Given the description of an element on the screen output the (x, y) to click on. 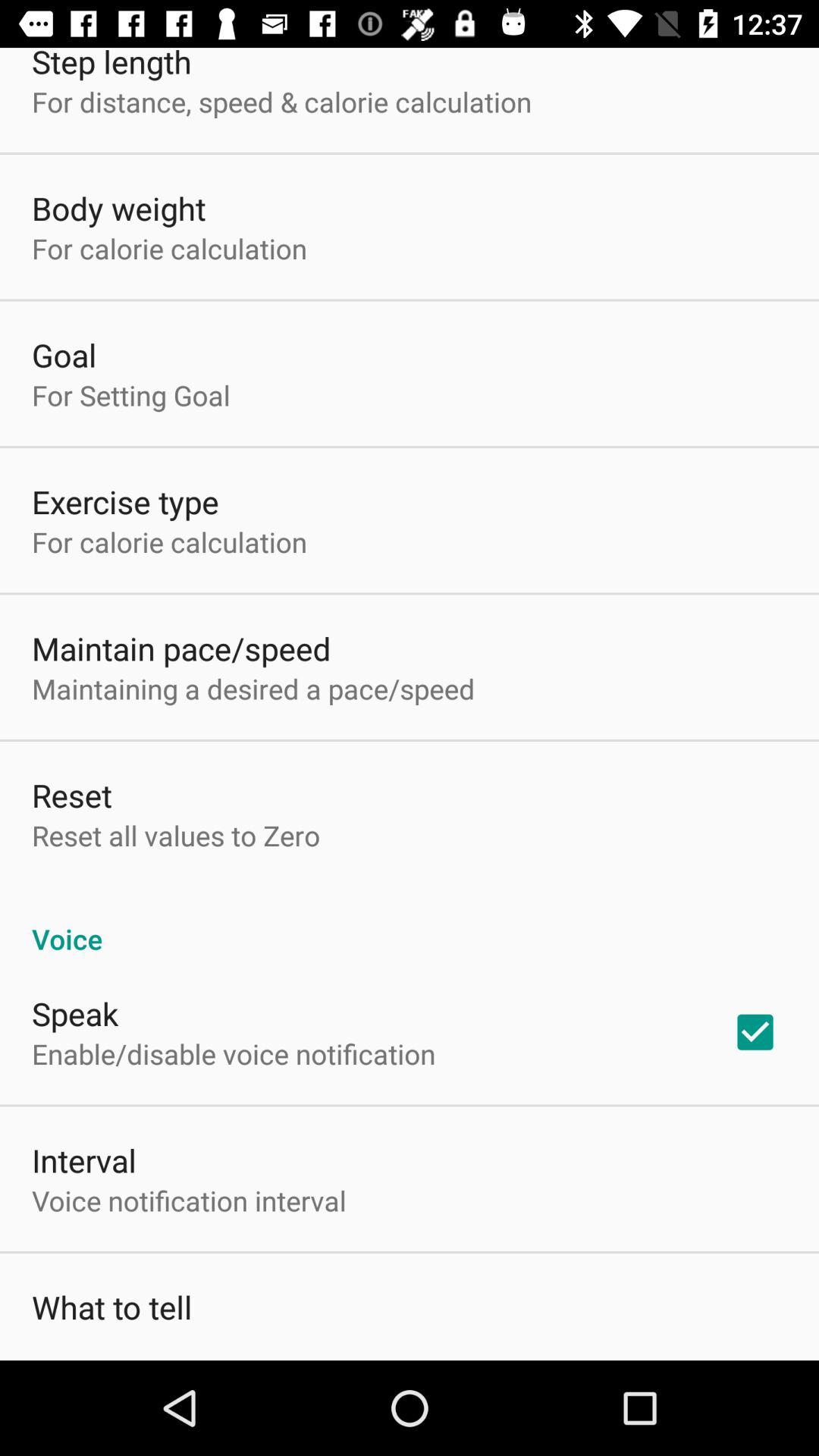
press exercise type (124, 501)
